Given the description of an element on the screen output the (x, y) to click on. 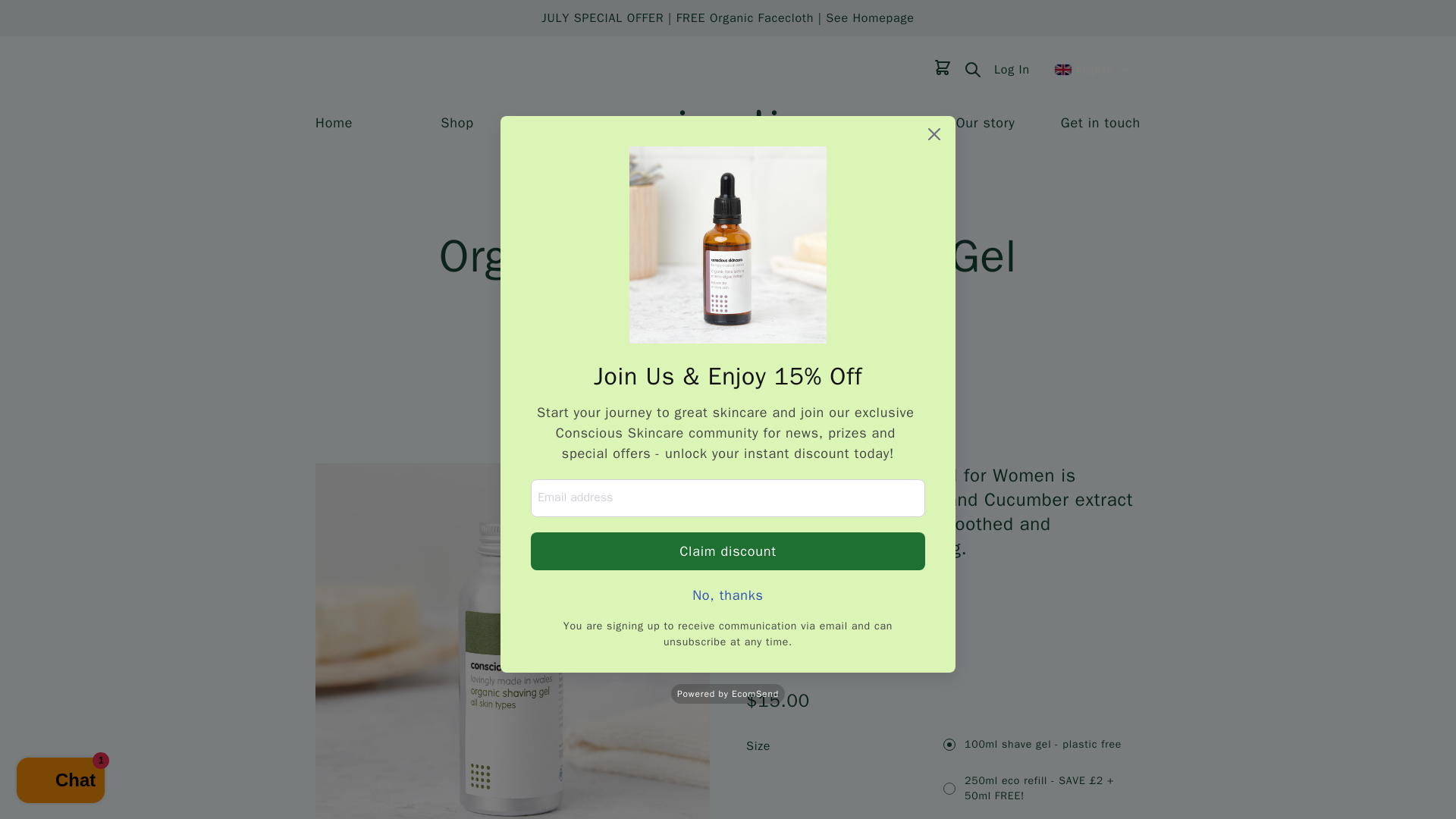
Search (972, 69)
43144608448752 (949, 788)
Conscious Skincare Homepage (727, 121)
Get in touch (1100, 123)
Home (333, 123)
View full-screen (692, 479)
Log In (1011, 69)
39985083351193 (949, 744)
Our story (985, 123)
Shop (457, 123)
